Given the description of an element on the screen output the (x, y) to click on. 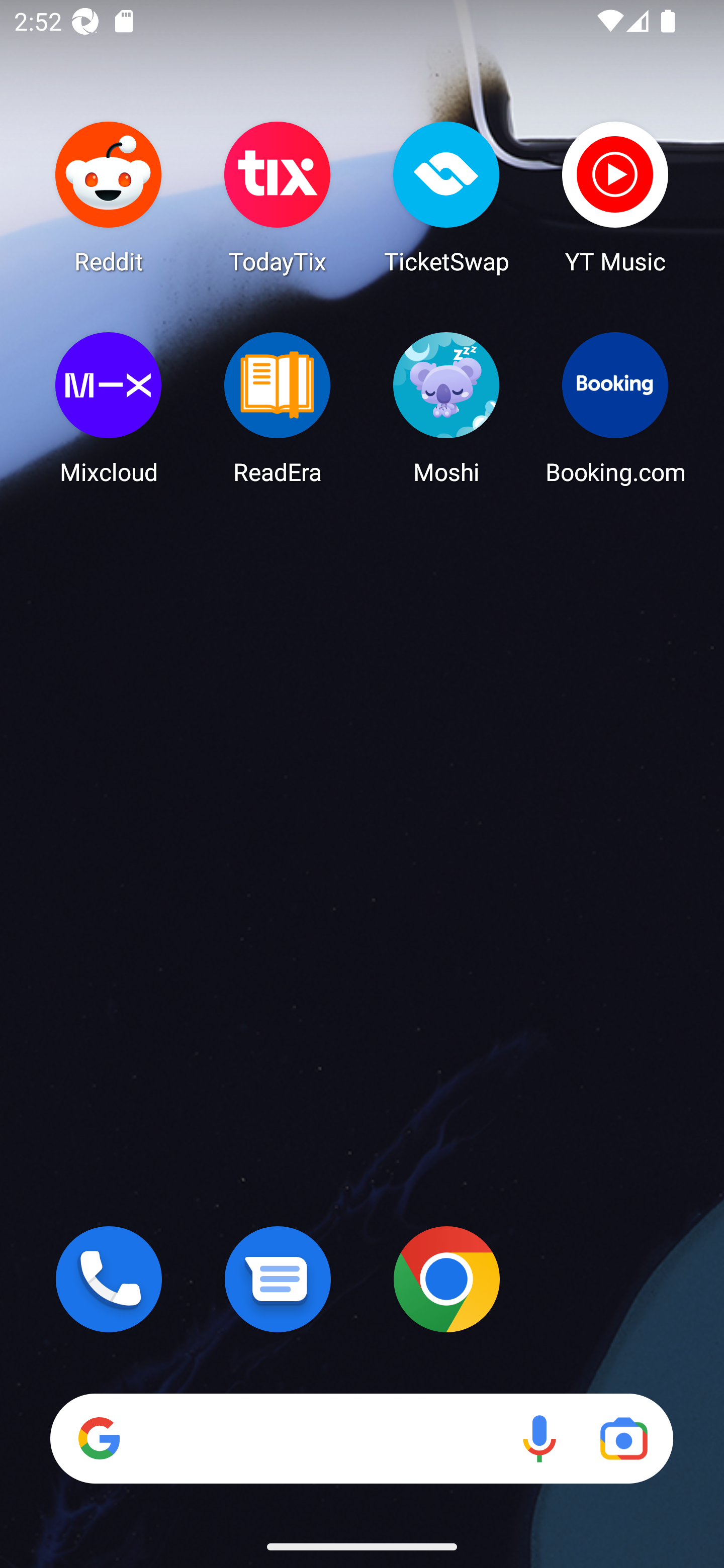
Reddit (108, 196)
TodayTix (277, 196)
TicketSwap (445, 196)
YT Music (615, 196)
Mixcloud (108, 407)
ReadEra (277, 407)
Moshi (445, 407)
Booking.com (615, 407)
Phone (108, 1279)
Messages (277, 1279)
Chrome (446, 1279)
Search Voice search Google Lens (361, 1438)
Voice search (539, 1438)
Google Lens (623, 1438)
